Given the description of an element on the screen output the (x, y) to click on. 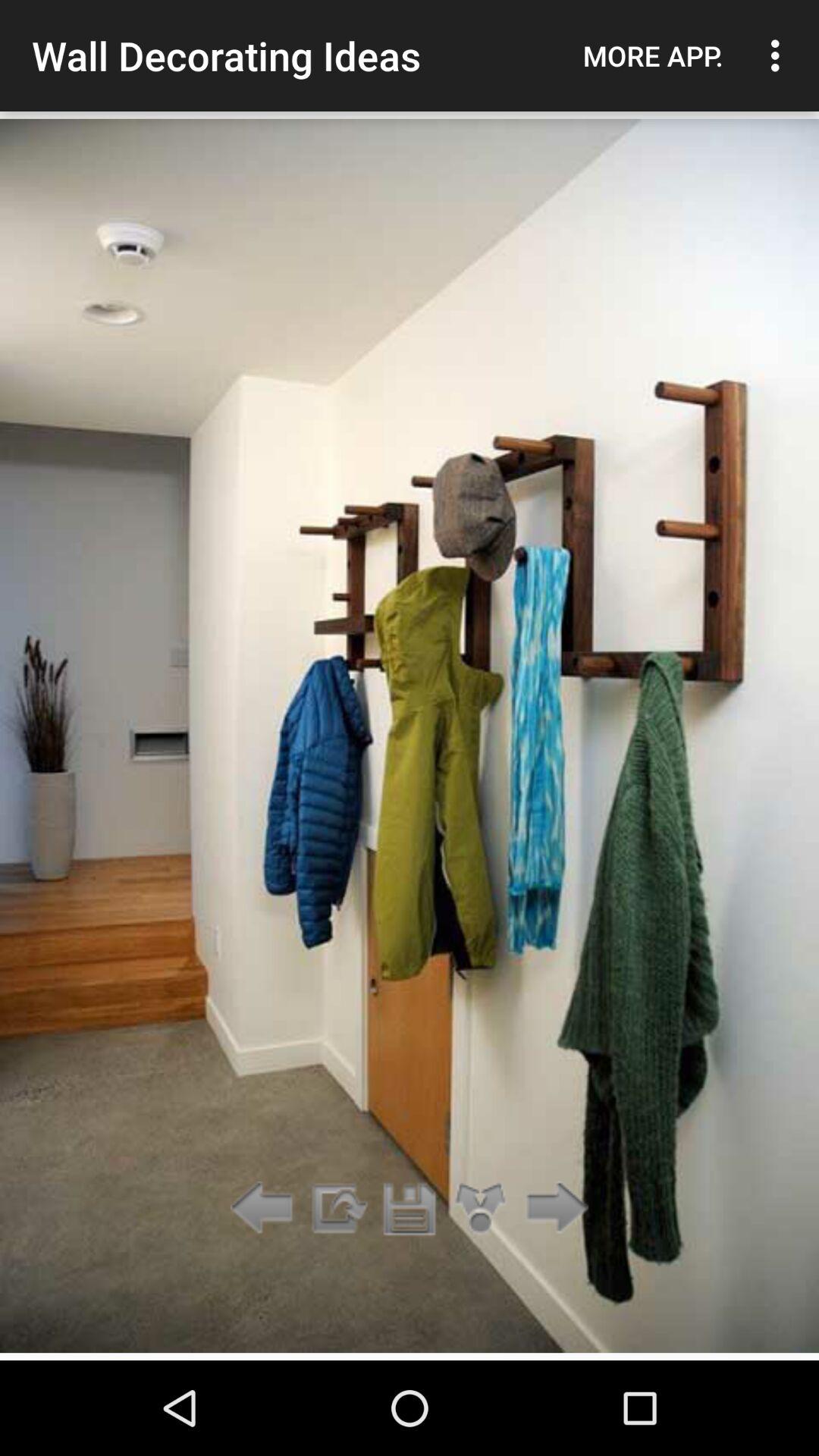
select the app next to the wall decorating ideas icon (653, 55)
